Given the description of an element on the screen output the (x, y) to click on. 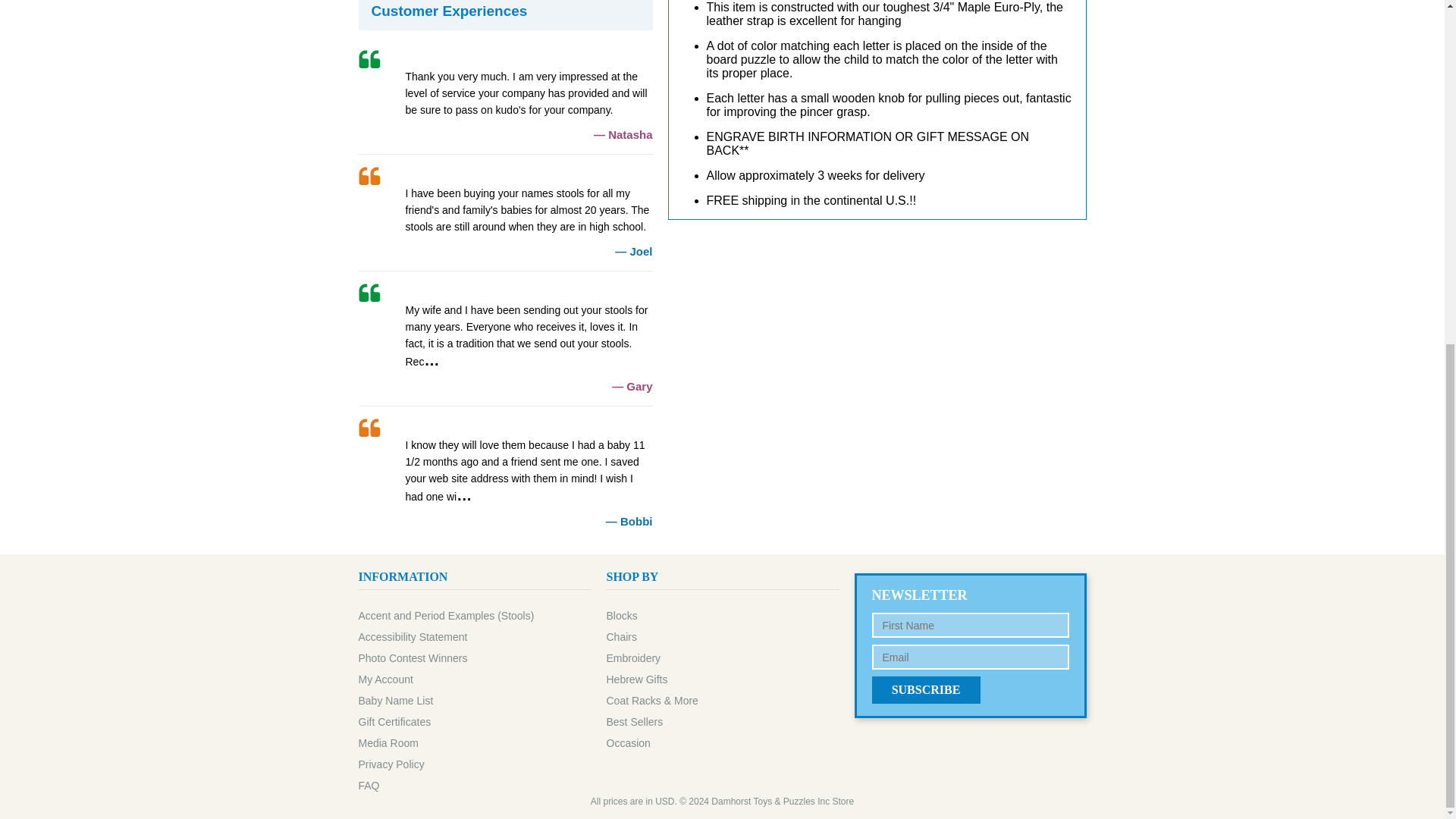
Subscribe (925, 689)
Click to view more (505, 338)
Click to view more (505, 472)
